Given the description of an element on the screen output the (x, y) to click on. 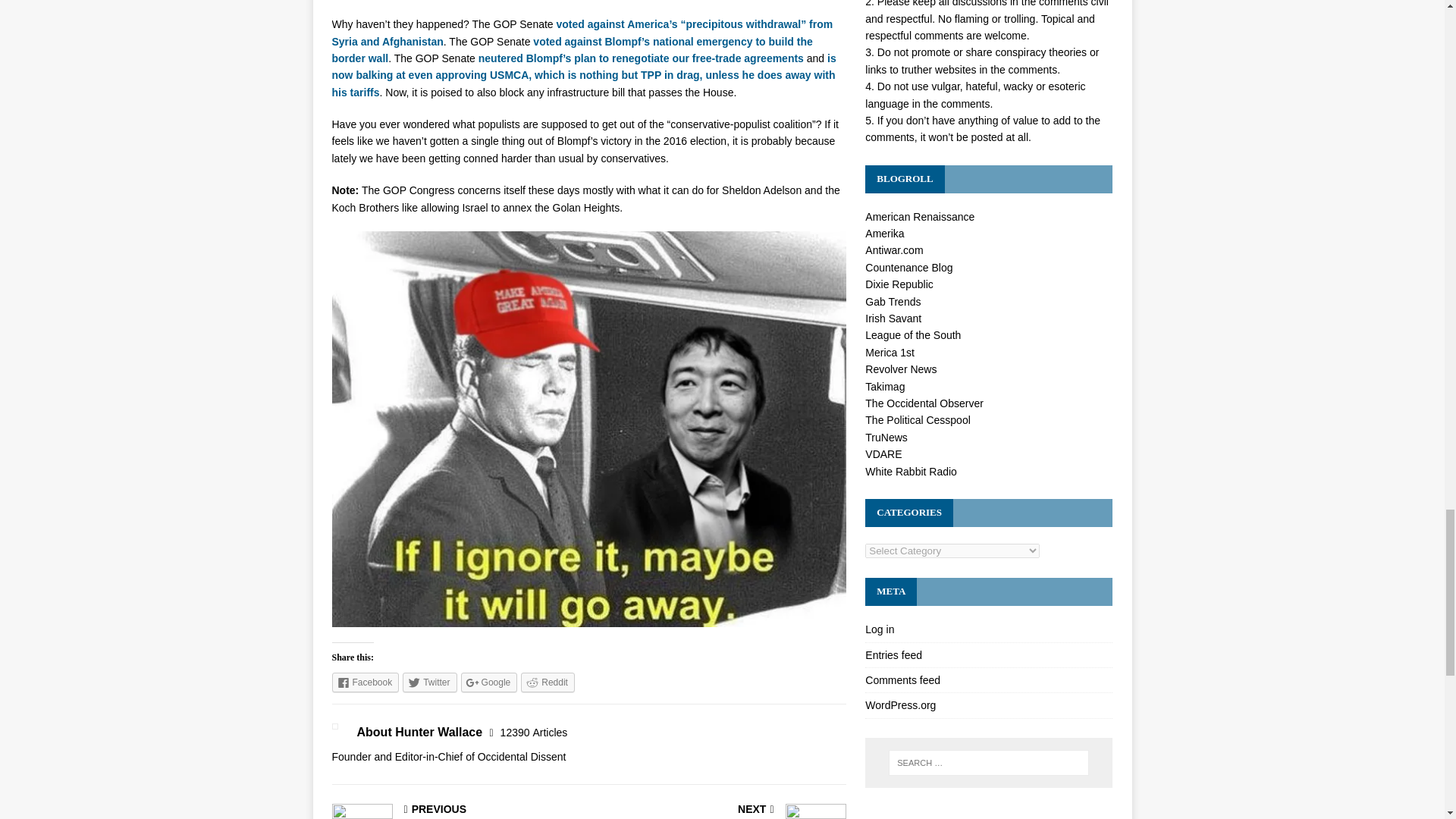
More articles written by Hunter Wallace' (533, 732)
Click to share on Reddit (548, 682)
Click to share on Facebook (364, 682)
Facebook (364, 682)
Click to share on Twitter (430, 682)
